Given the description of an element on the screen output the (x, y) to click on. 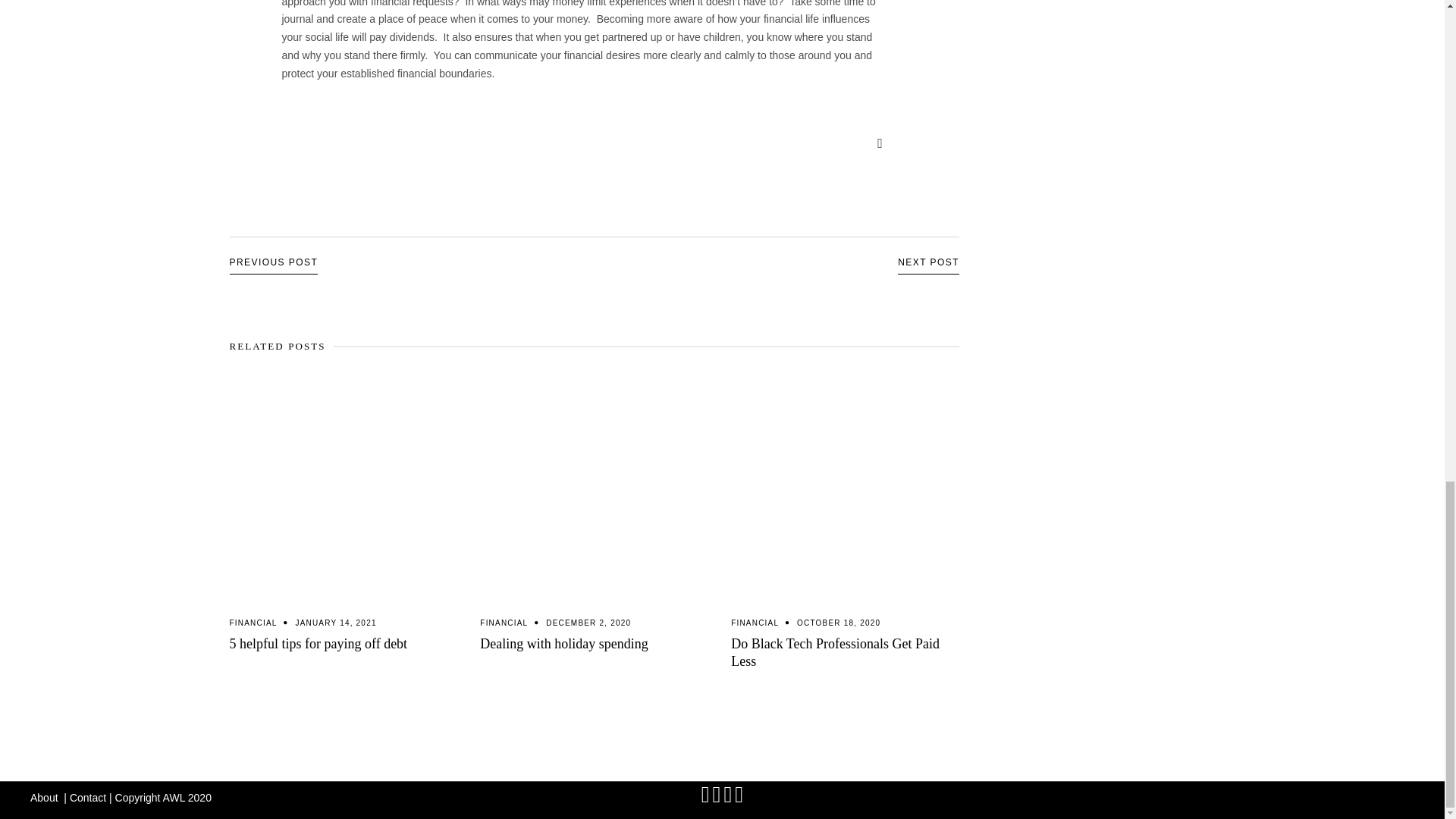
JANUARY 14, 2021 (335, 623)
Do Black Tech Professionals Get Paid Less (834, 652)
Do Black Tech Professionals Get Paid Less (844, 487)
PREVIOUS POST (272, 262)
5 helpful tips for paying off debt (317, 643)
FINANCIAL (754, 623)
Dealing with holiday spending (593, 487)
DECEMBER 2, 2020 (588, 623)
Do Black Tech Professionals Get Paid Less (834, 652)
5 helpful tips for paying off debt (317, 643)
FINANCIAL (503, 623)
OCTOBER 18, 2020 (838, 623)
Dealing with holiday spending (563, 643)
NEXT POST (928, 262)
Dealing with holiday spending (563, 643)
